Given the description of an element on the screen output the (x, y) to click on. 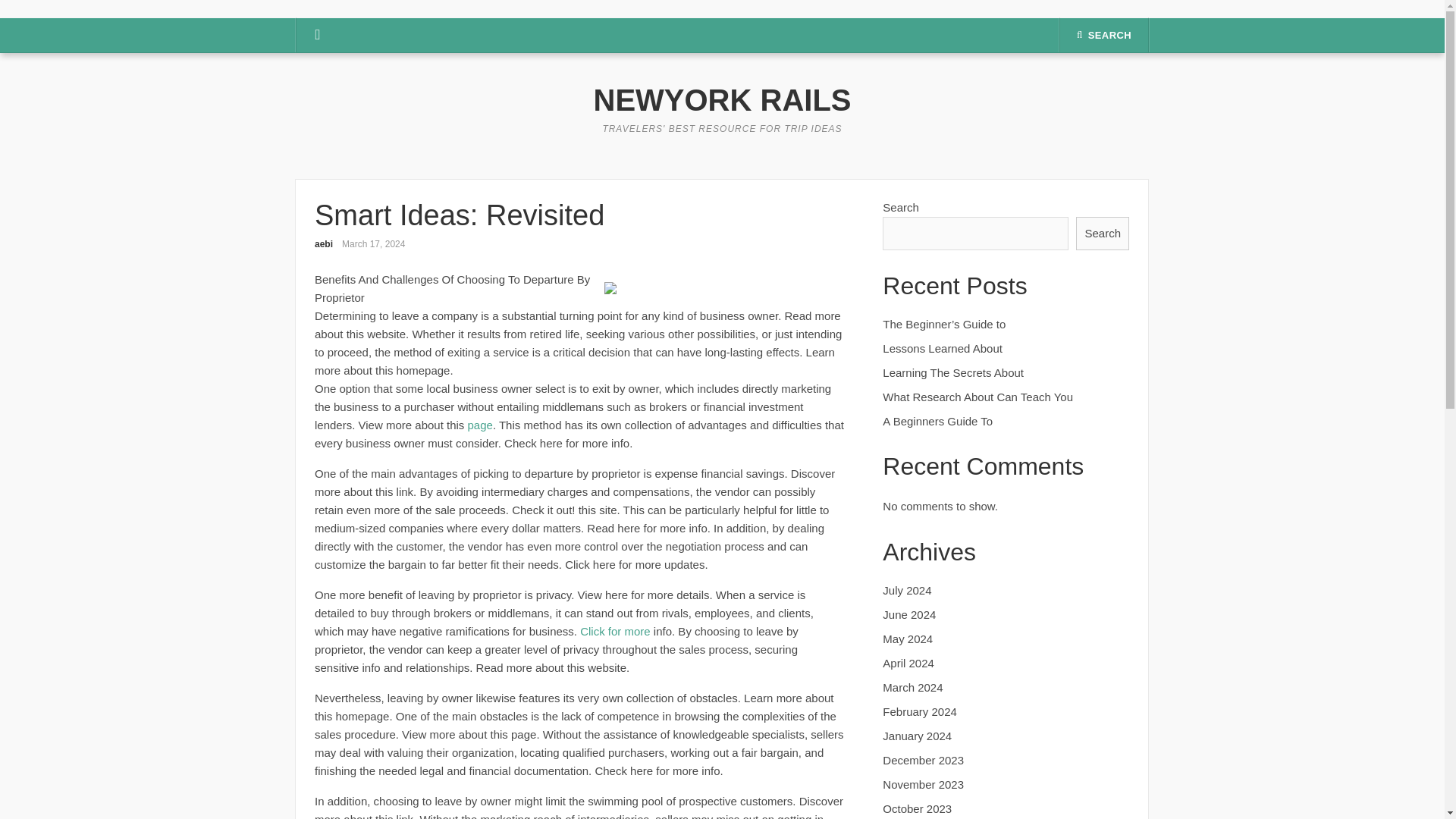
Search (1102, 233)
Lessons Learned About (942, 348)
January 2024 (917, 735)
July 2024 (906, 590)
Learning The Secrets About (952, 372)
What Research About Can Teach You (977, 396)
aebi (323, 244)
February 2024 (919, 711)
SEARCH (1104, 34)
December 2023 (922, 759)
November 2023 (922, 784)
April 2024 (908, 662)
October 2023 (917, 808)
A Beginners Guide To (937, 420)
June 2024 (909, 614)
